Given the description of an element on the screen output the (x, y) to click on. 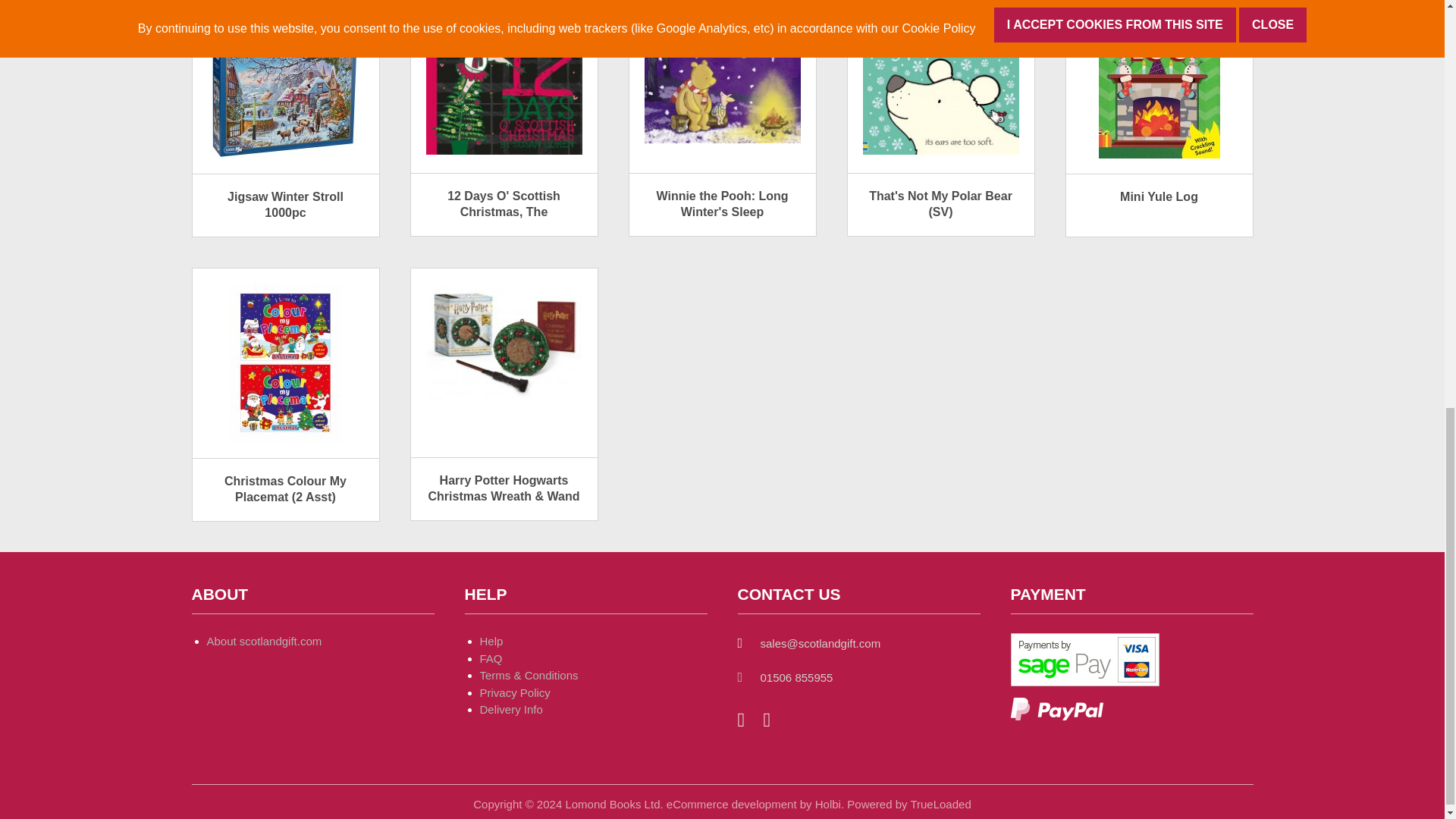
Mini Yule Log (1158, 79)
